Given the description of an element on the screen output the (x, y) to click on. 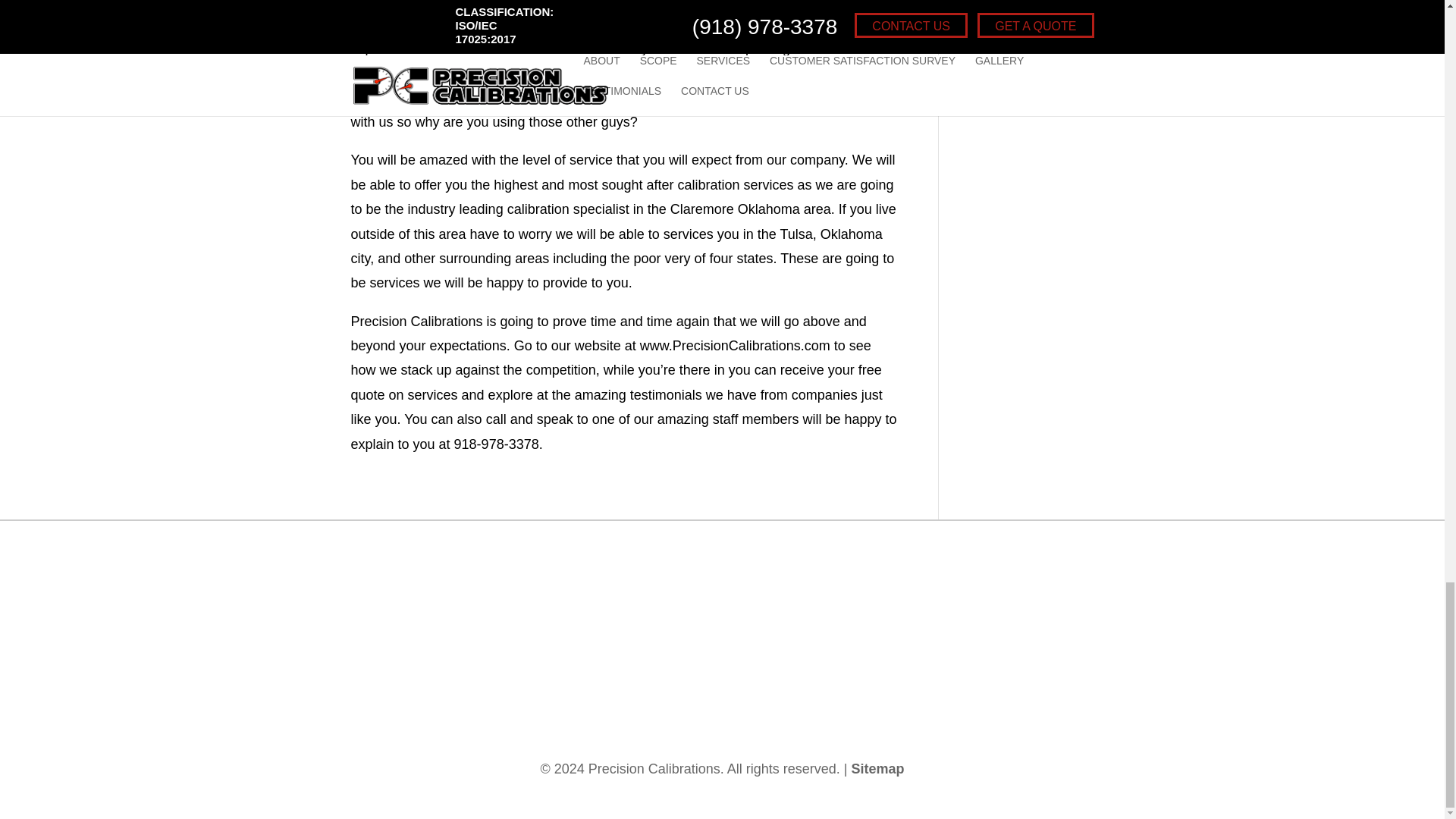
Sitemap (877, 768)
